Given the description of an element on the screen output the (x, y) to click on. 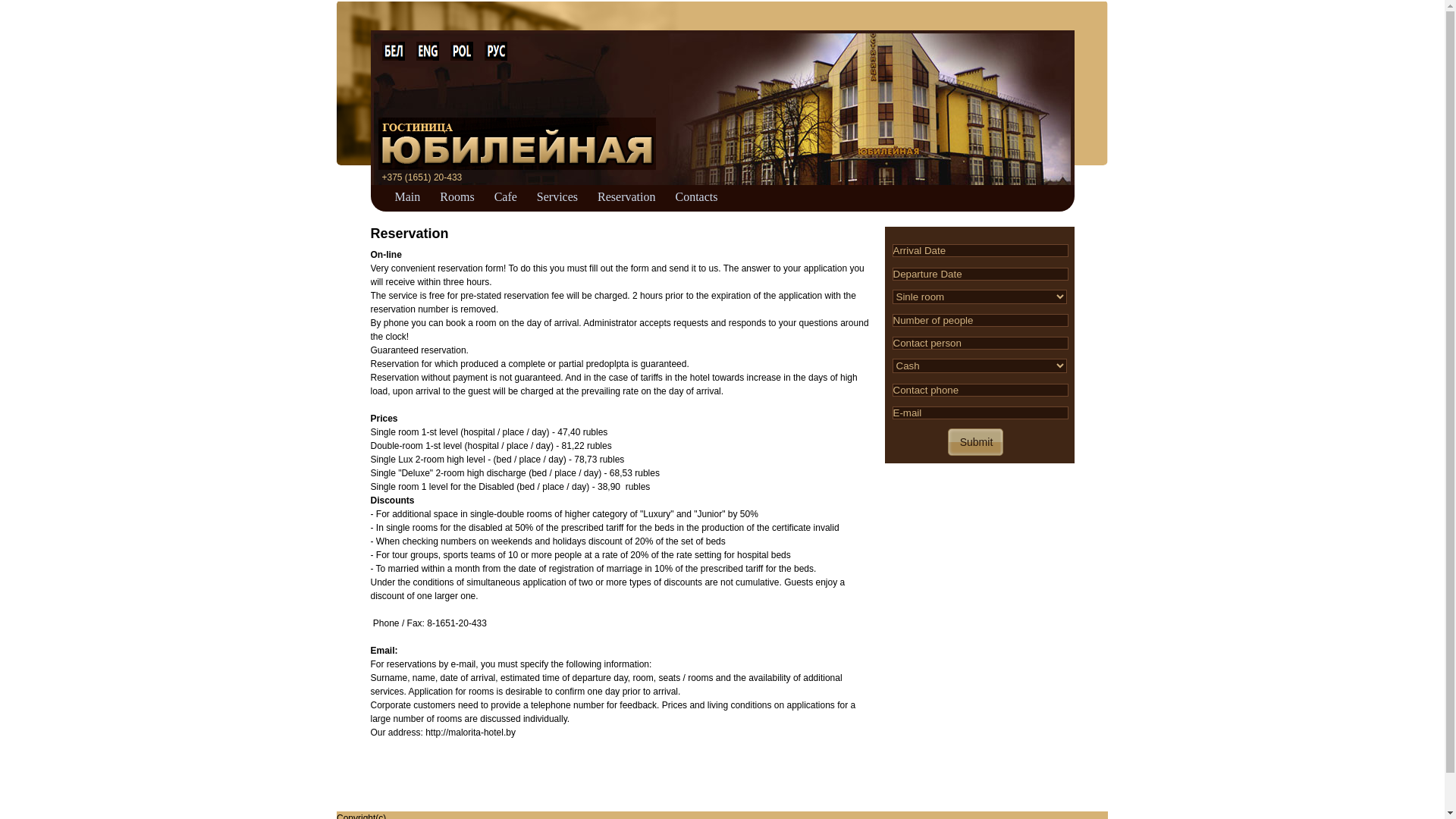
Submit Element type: text (974, 441)
English Element type: hover (426, 50)
Rooms Element type: text (456, 194)
Polski Element type: hover (461, 50)
Cafe Element type: text (505, 194)
Reservation Element type: text (626, 194)
Main Element type: text (407, 194)
Services Element type: text (556, 194)
Contacts Element type: text (695, 194)
